Given the description of an element on the screen output the (x, y) to click on. 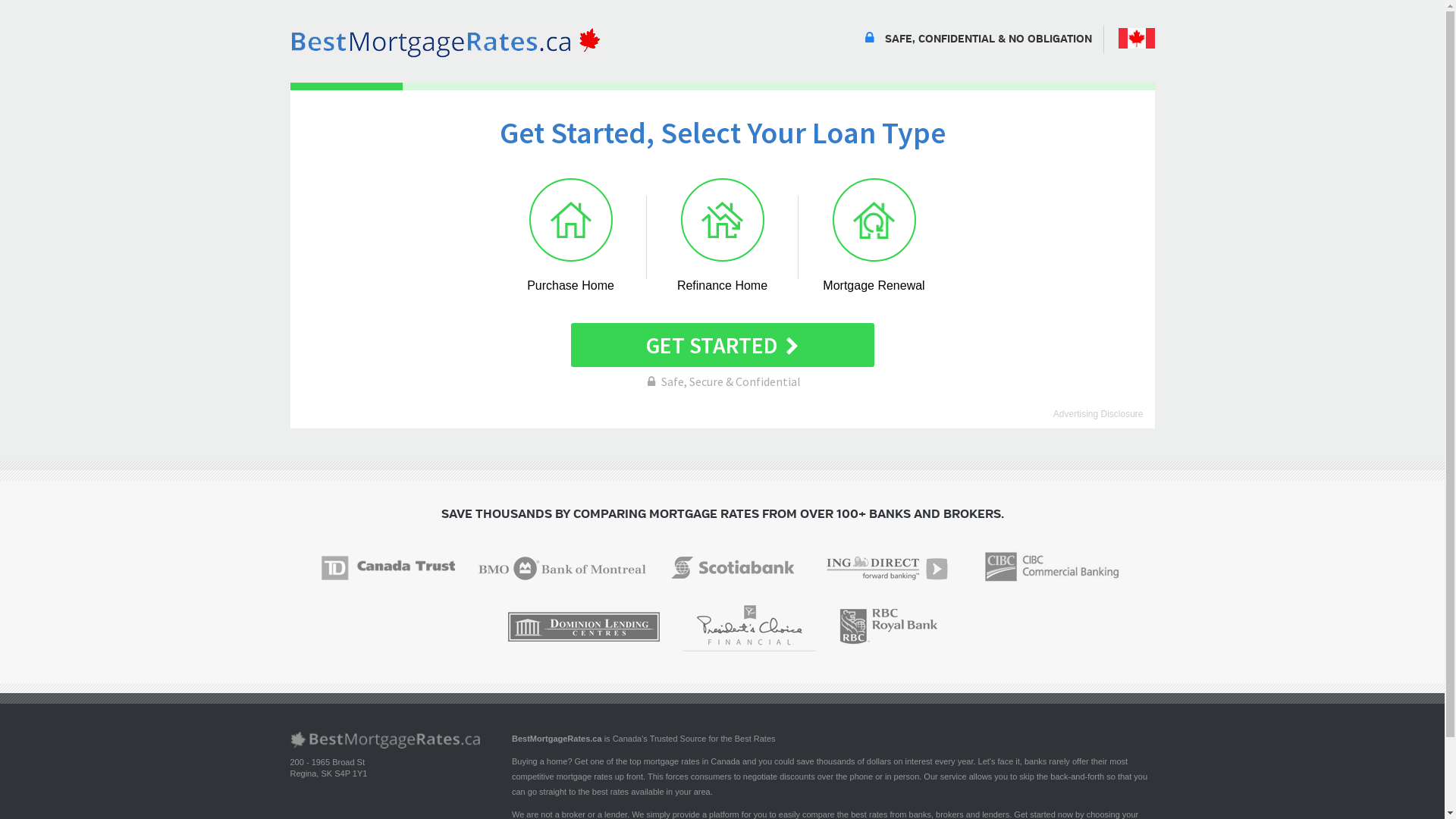
Advertising Disclosure Element type: text (1098, 413)
GET STARTED Element type: text (721, 345)
